Given the description of an element on the screen output the (x, y) to click on. 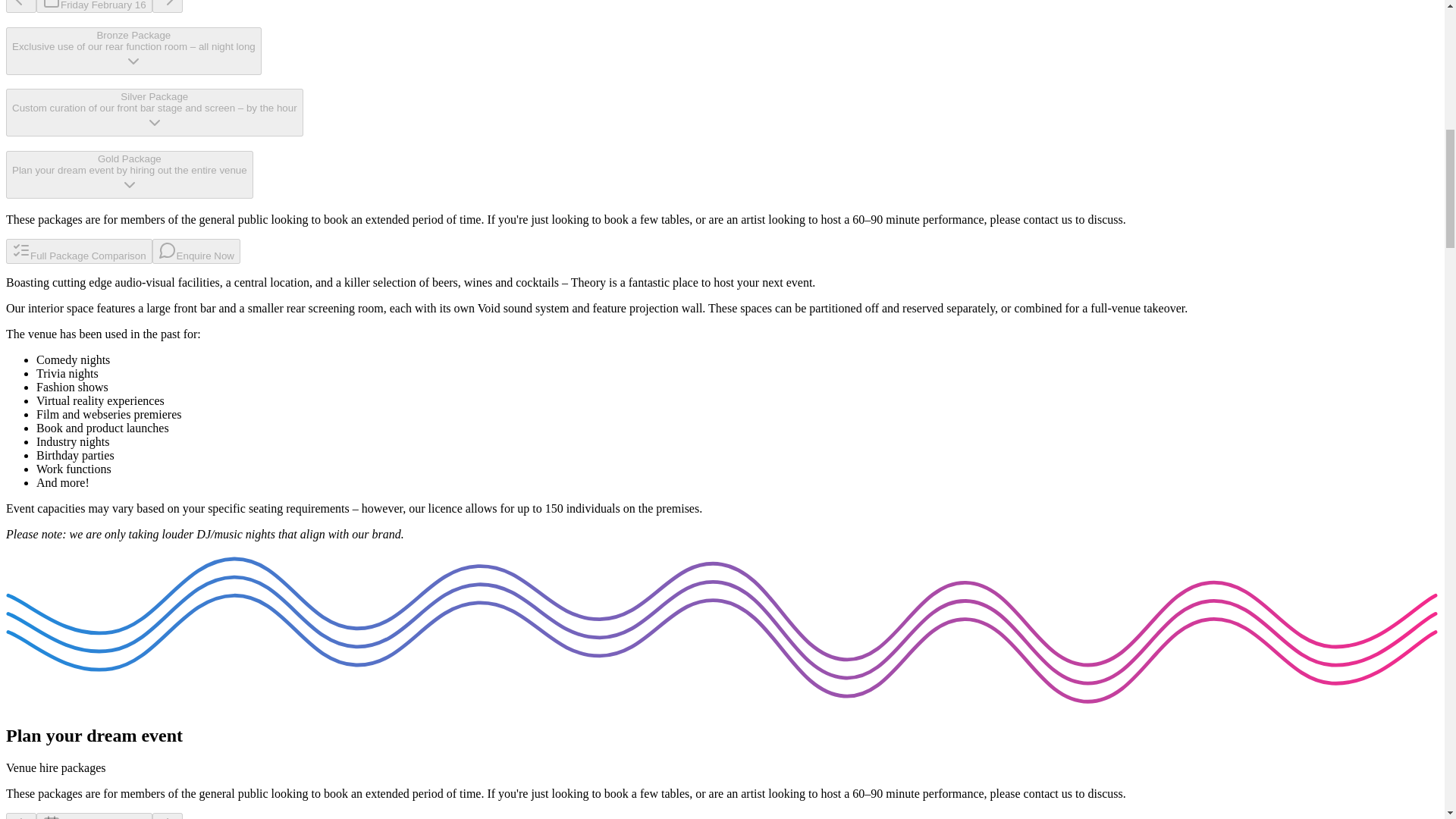
Full Package Comparison (78, 251)
Friday February 16 (94, 6)
Enquire Now (196, 251)
Full Package Comparison (78, 254)
Friday February 16 (94, 816)
